Given the description of an element on the screen output the (x, y) to click on. 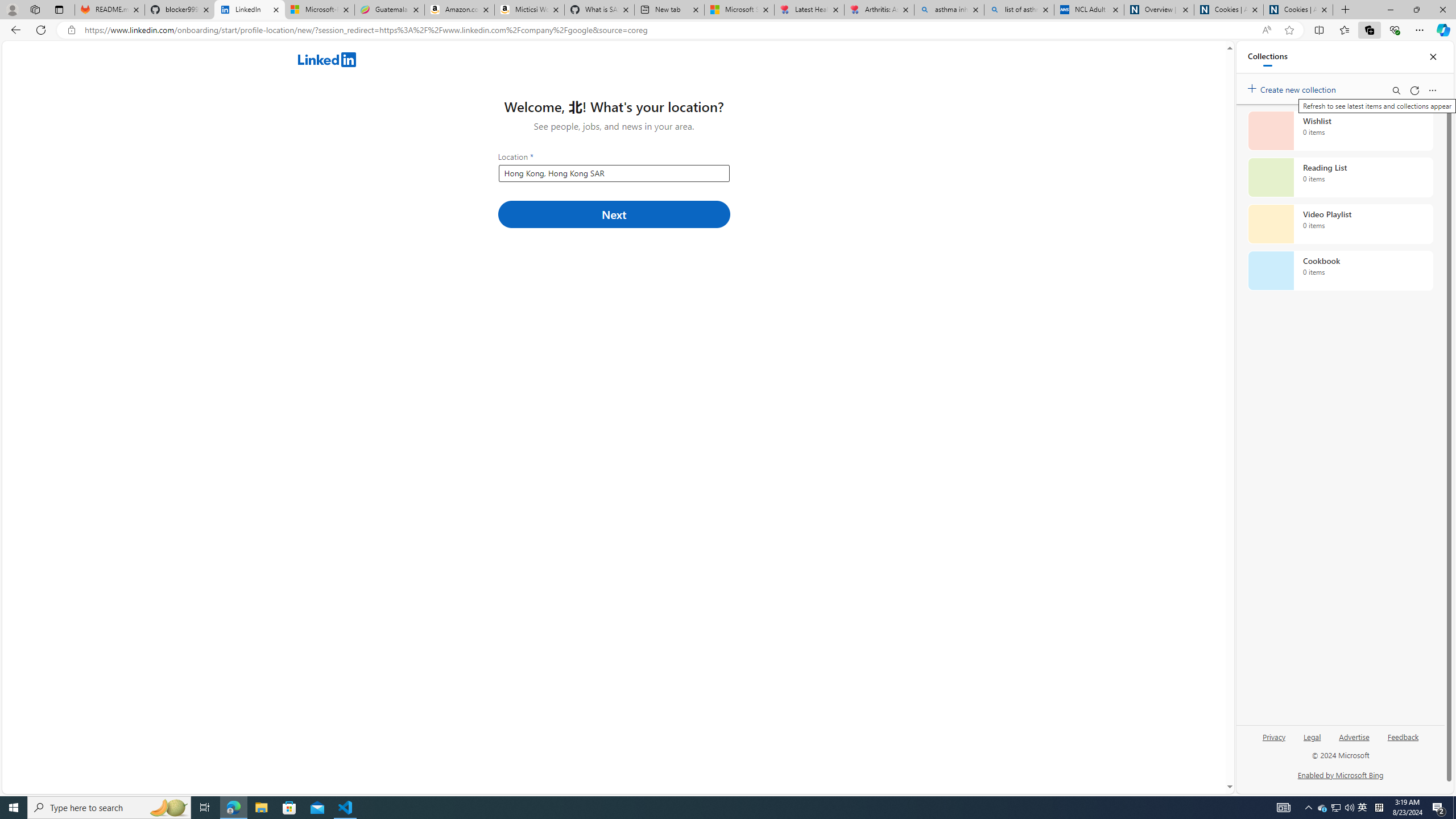
Create new collection (1293, 87)
Legal (1312, 741)
LinkedIn (249, 9)
Cookbook collection, 0 items (1339, 270)
